Given the description of an element on the screen output the (x, y) to click on. 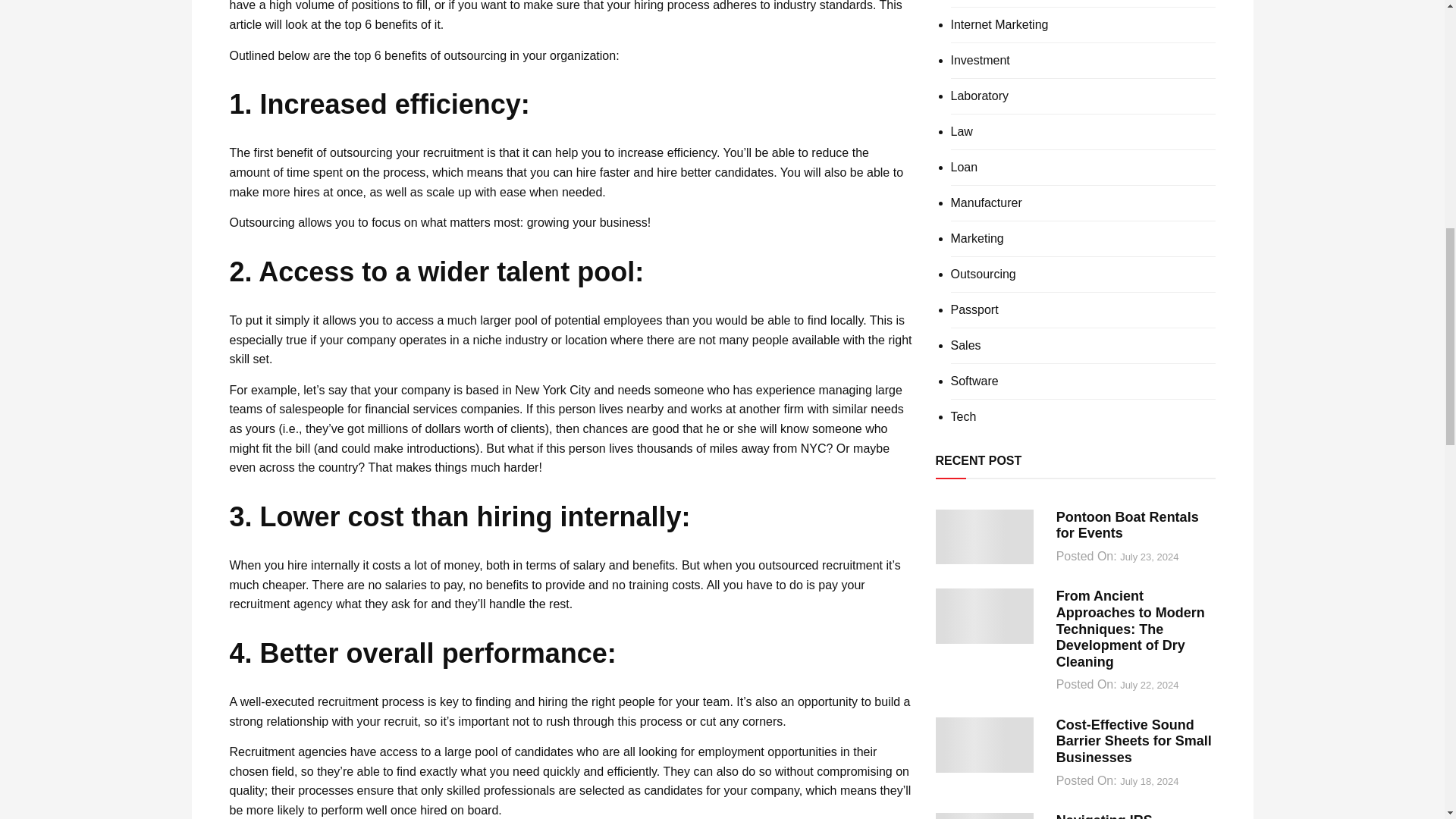
Internet Marketing (999, 24)
Loan (964, 167)
Passport (974, 309)
Outsourcing (983, 274)
Marketing (977, 238)
Investment (980, 60)
Laboratory (979, 96)
Law (961, 132)
Manufacturer (986, 203)
